Given the description of an element on the screen output the (x, y) to click on. 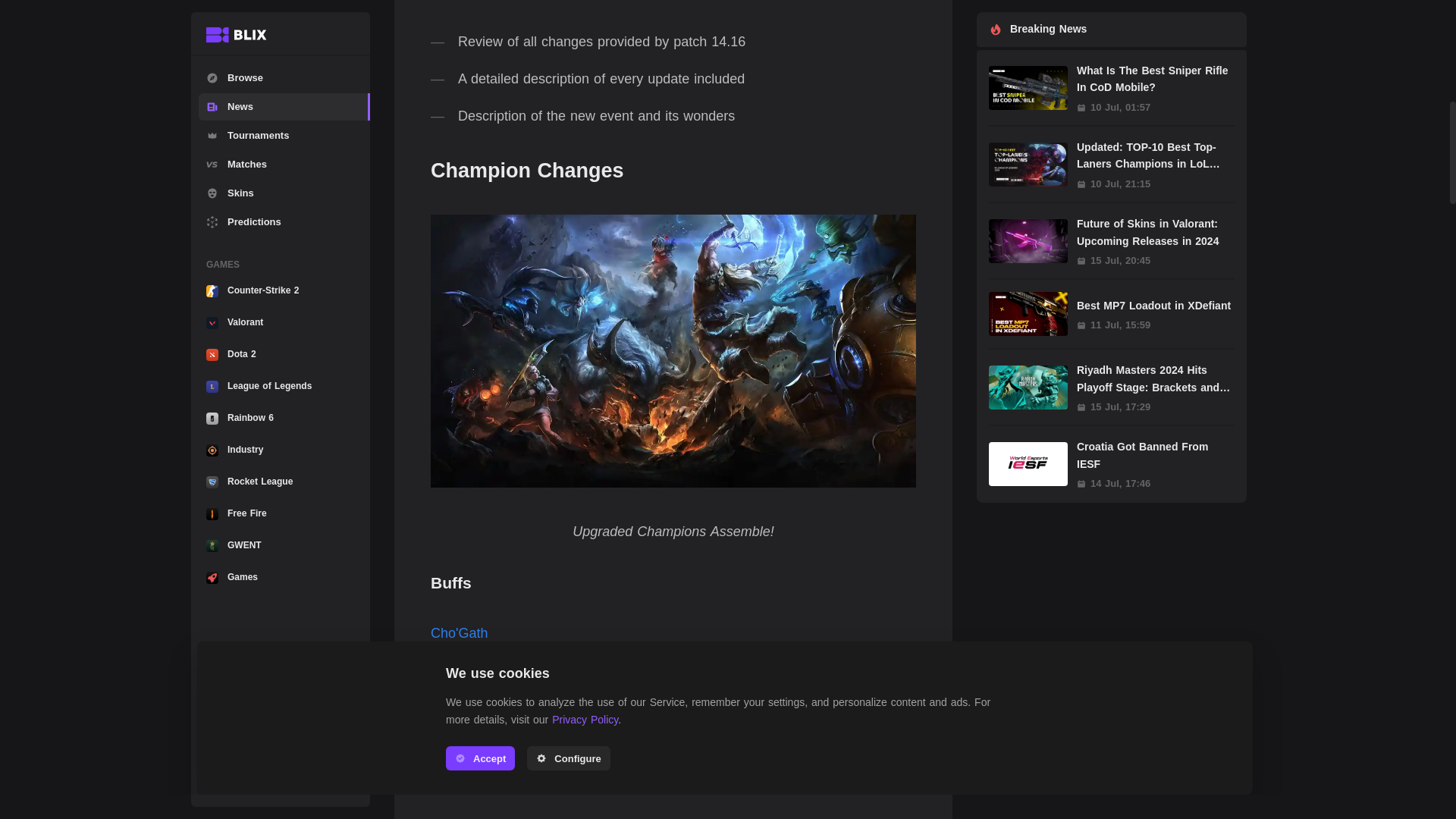
Cho'Gath (458, 632)
Diana (447, 682)
Ornn (445, 731)
Shen (446, 780)
